Given the description of an element on the screen output the (x, y) to click on. 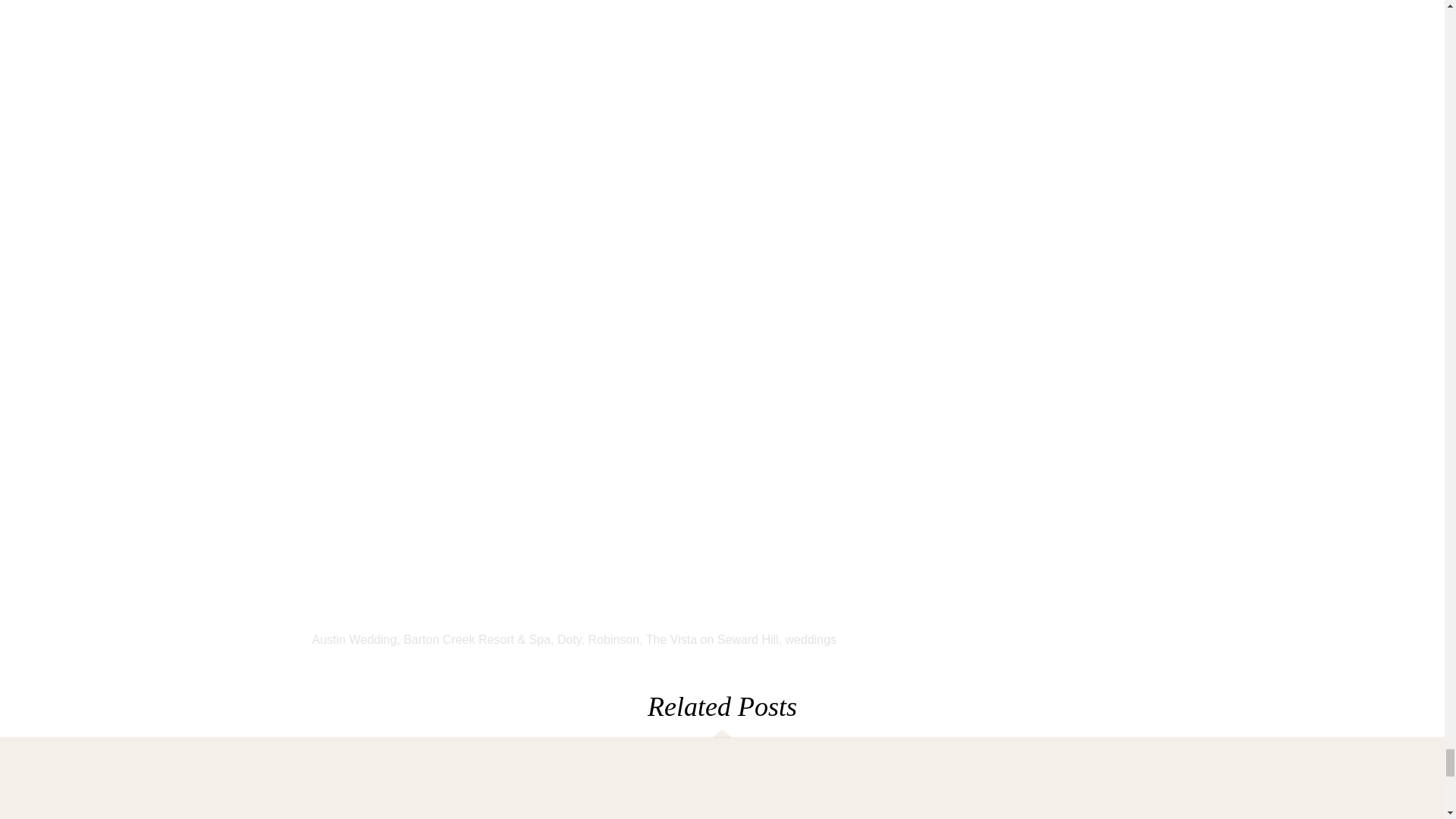
Related Posts (721, 706)
Robinson (614, 639)
weddings (811, 639)
Doty (568, 639)
Austin Wedding (355, 639)
The Vista on Seward Hill (712, 639)
